Given the description of an element on the screen output the (x, y) to click on. 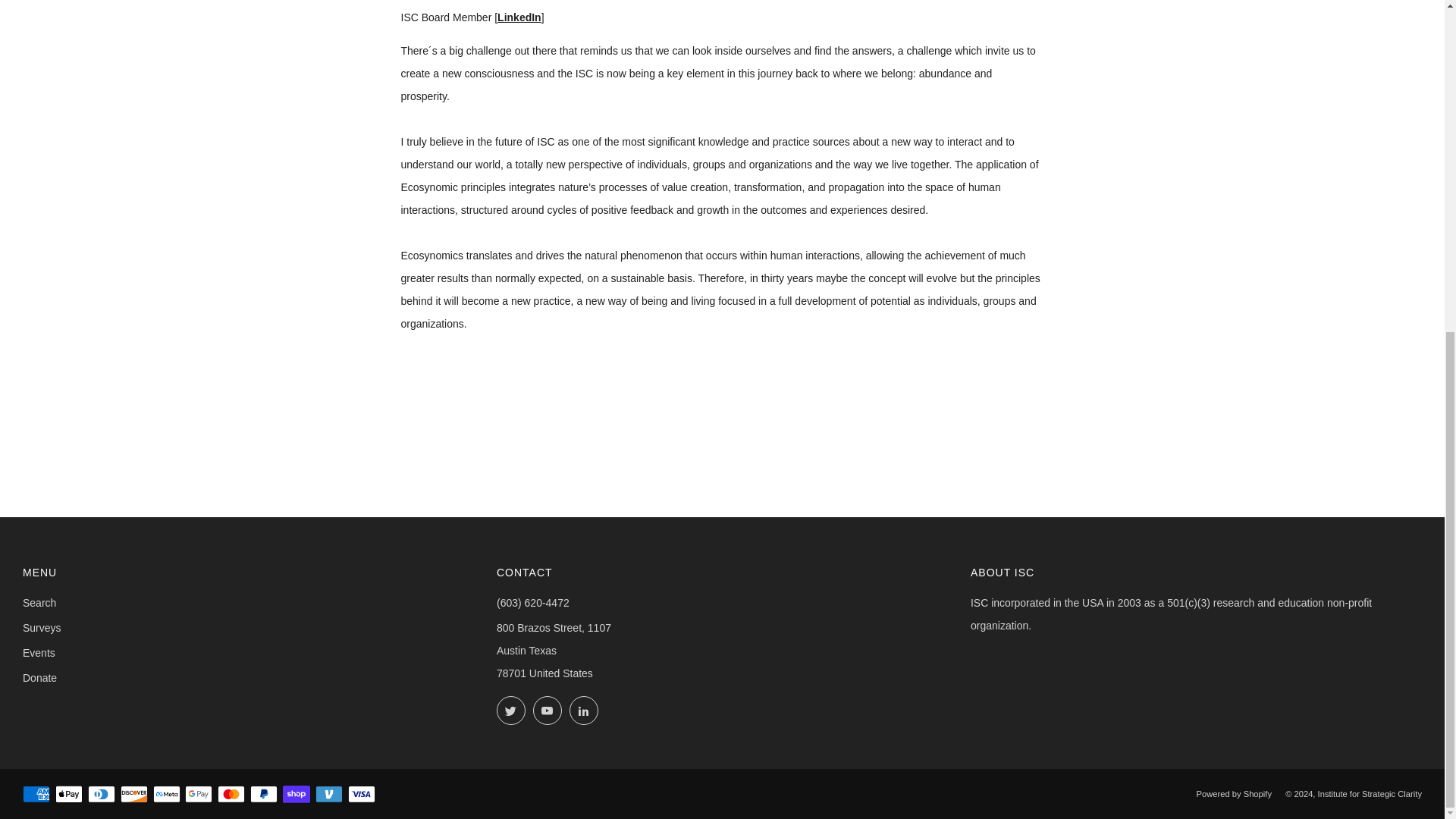
LinkedIn (519, 17)
